Given the description of an element on the screen output the (x, y) to click on. 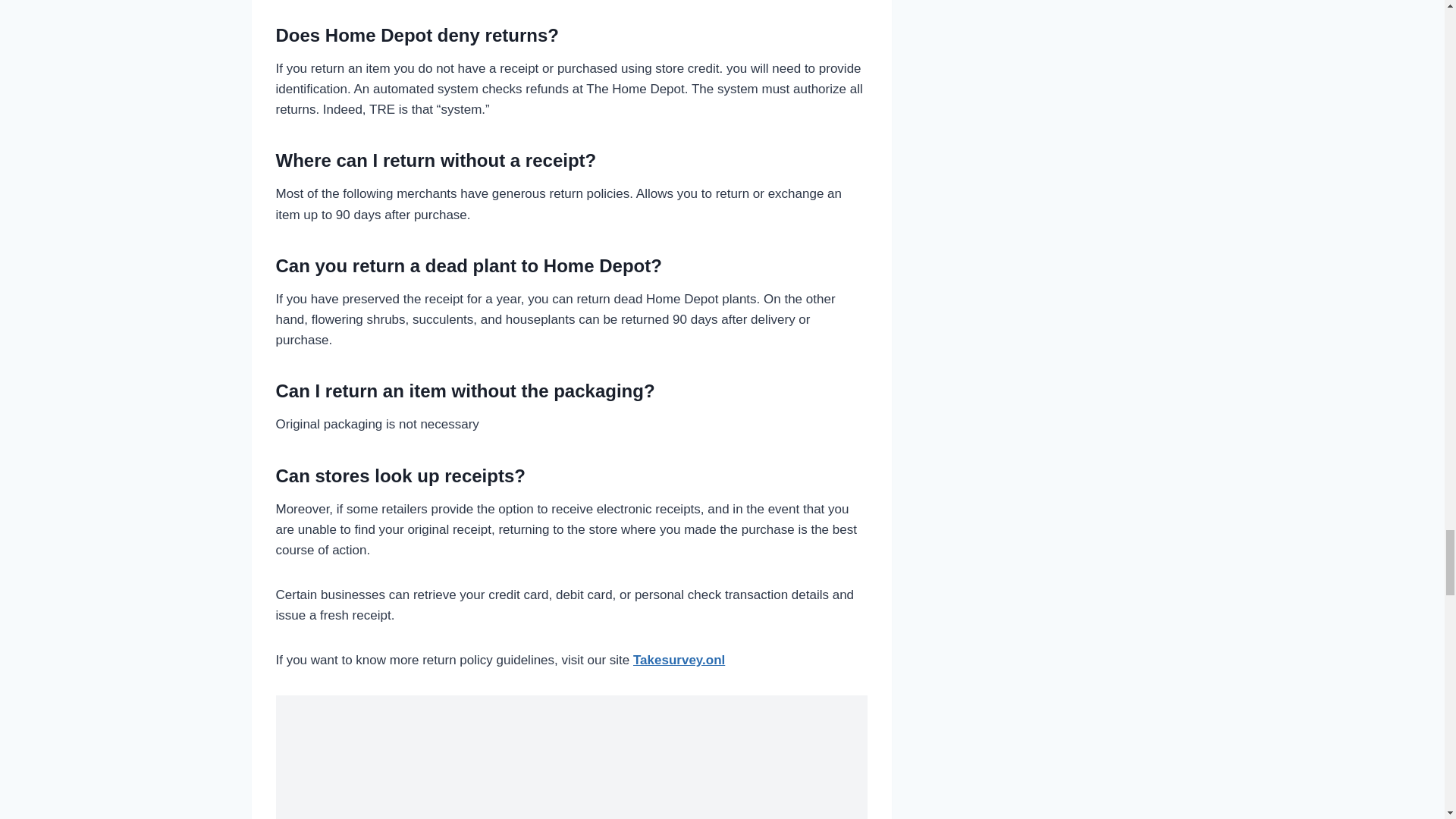
Takesurvey.onl (679, 659)
